Given the description of an element on the screen output the (x, y) to click on. 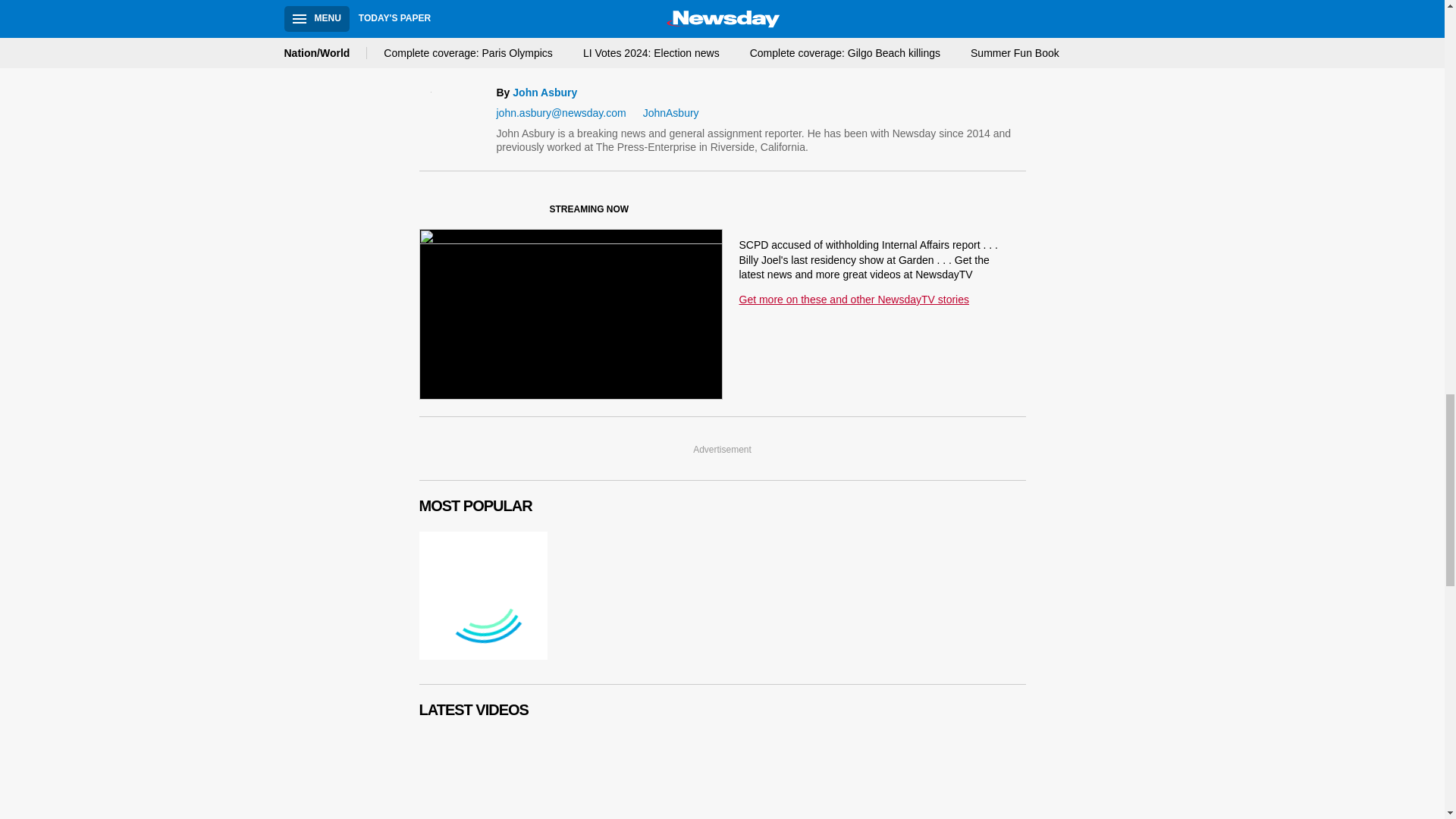
JohnAsbury (664, 113)
STREAMING NOW (530, 212)
John Asbury (544, 92)
Get more on these and other NewsdayTV stories (853, 299)
